Given the description of an element on the screen output the (x, y) to click on. 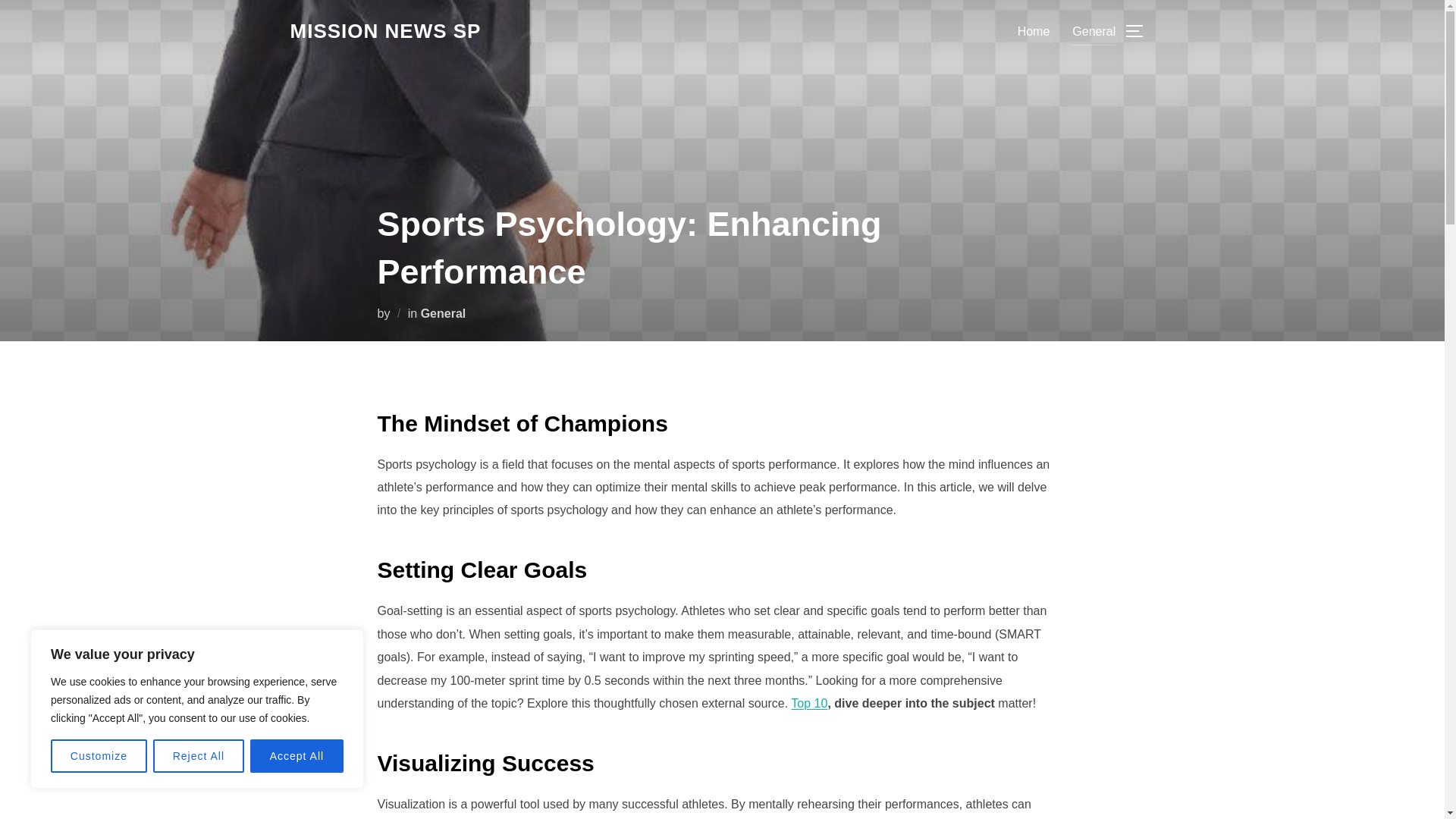
MISSION NEWS SP (384, 31)
Customize (98, 756)
Blog (384, 31)
Reject All (198, 756)
Accept All (296, 756)
Home (1033, 30)
General (1093, 30)
